Given the description of an element on the screen output the (x, y) to click on. 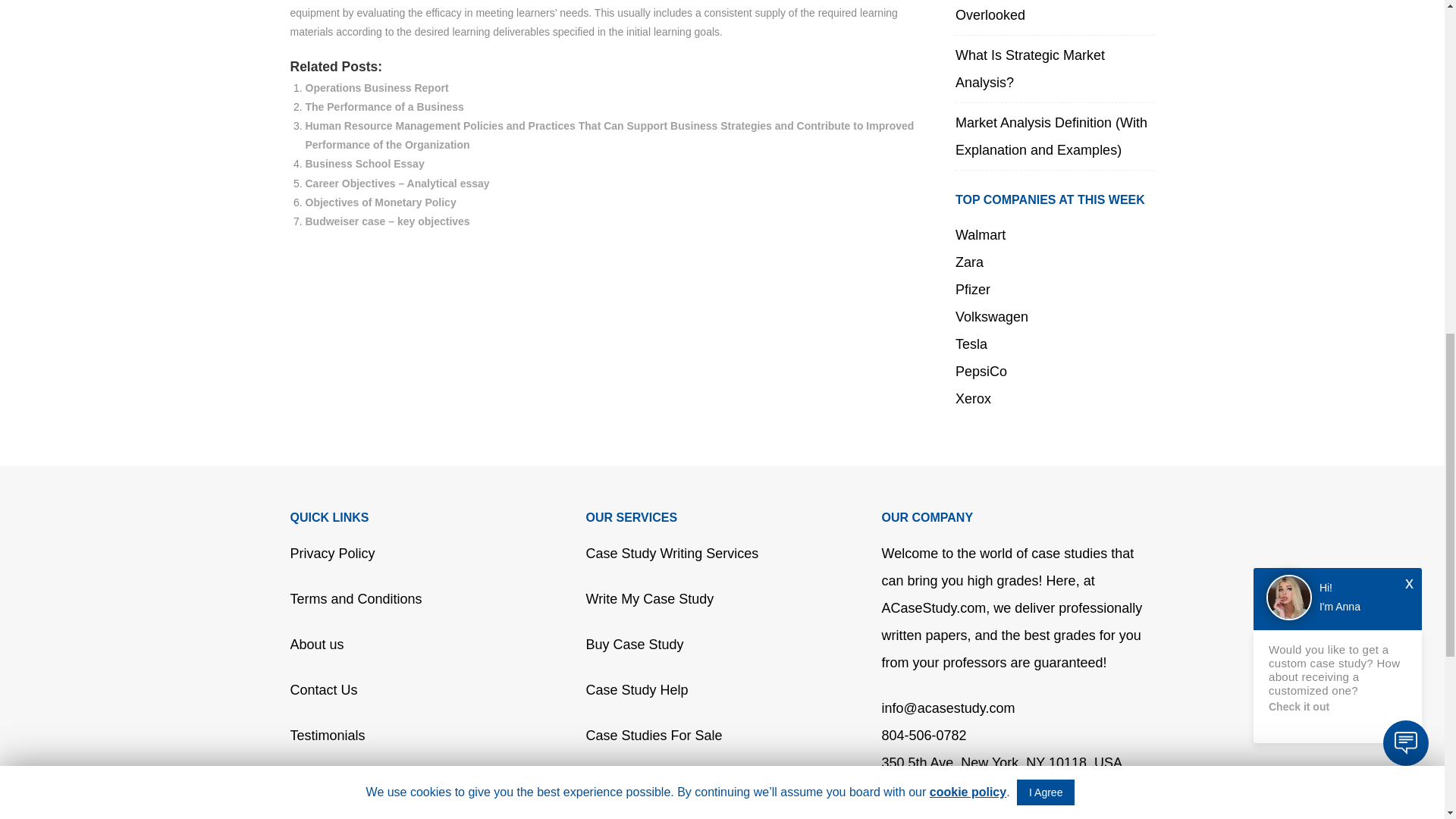
Operations Business Report (376, 87)
Business School Essay (363, 163)
Objectives of Monetary Policy (379, 202)
The Performance of a Business (383, 106)
